Given the description of an element on the screen output the (x, y) to click on. 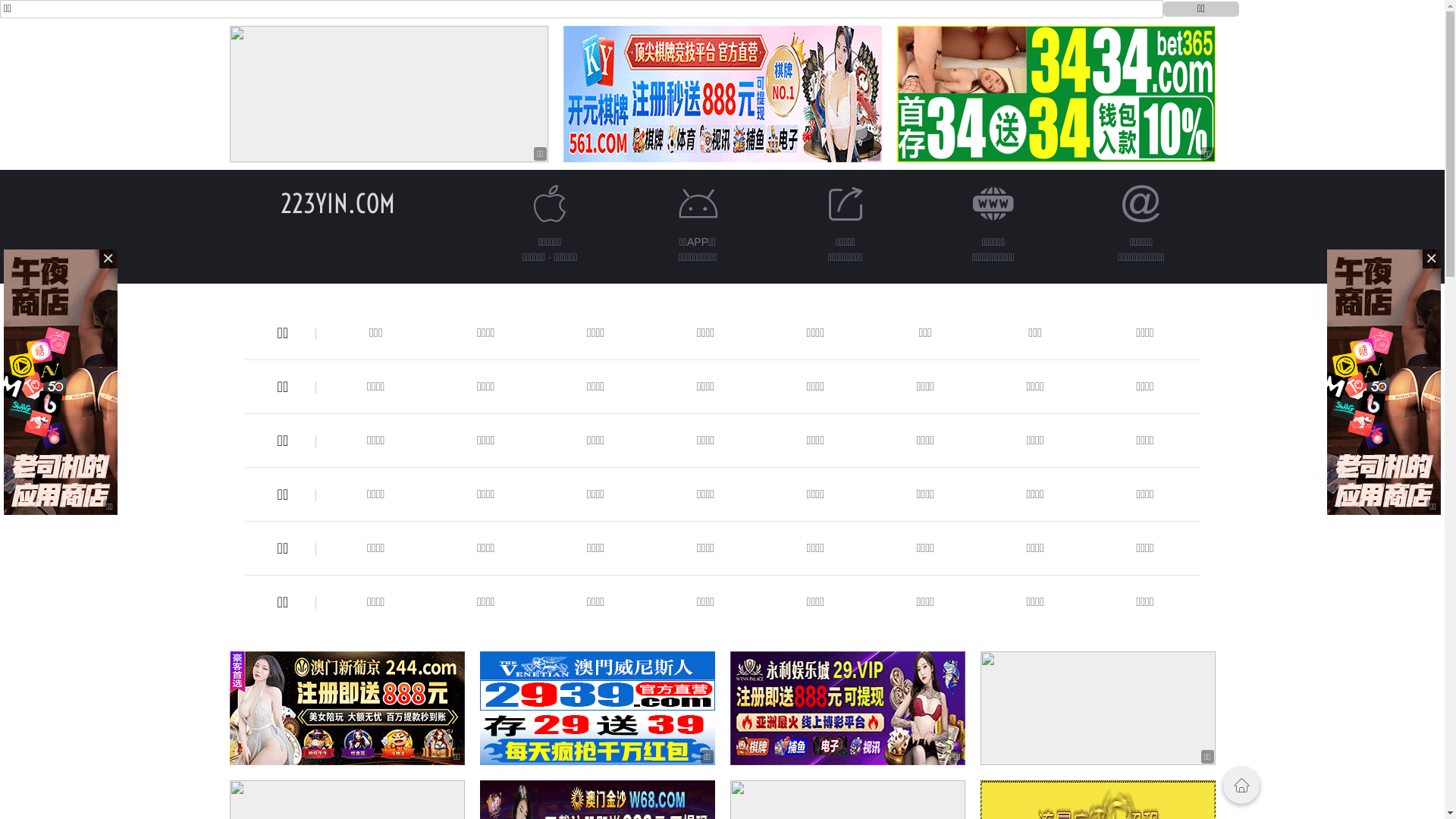
223YIN.COM Element type: text (337, 203)
